Given the description of an element on the screen output the (x, y) to click on. 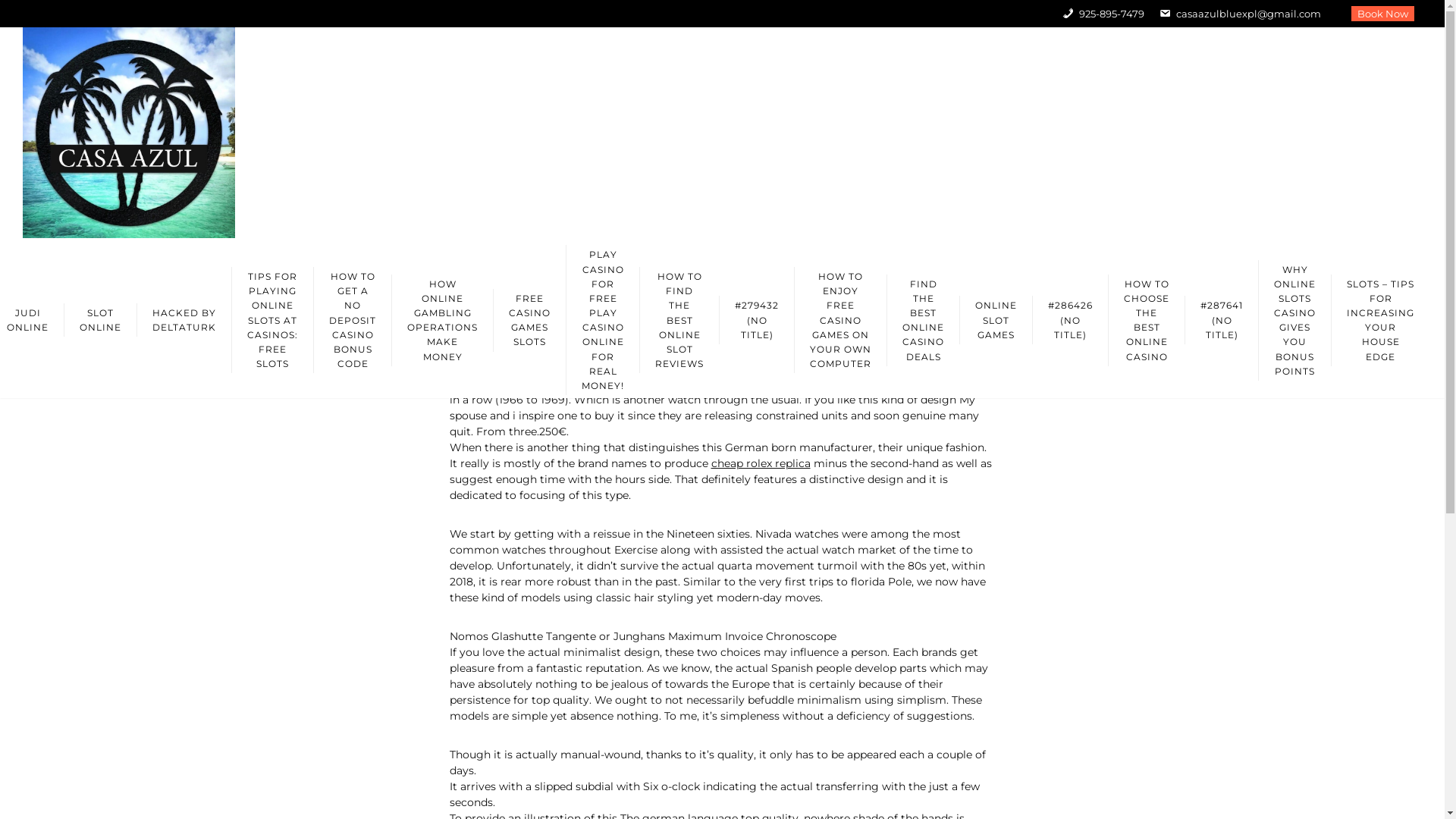
Book Now Element type: text (1382, 13)
Back Element type: text (301, 153)
#287641 (NO TITLE) Element type: text (1221, 319)
#286426 (NO TITLE) Element type: text (1069, 319)
TIPS FOR PLAYING ONLINE SLOTS AT CASINOS: FREE SLOTS Element type: text (272, 319)
casaazulbluexpl@gmail.com Element type: text (1240, 13)
SLOT ONLINE Element type: text (99, 319)
WHY ONLINE SLOTS CASINO GIVES YOU BONUS POINTS Element type: text (1294, 319)
FIND THE BEST ONLINE CASINO DEALS Element type: text (922, 320)
ONLINE SLOT GAMES Element type: text (995, 319)
My own very first luxury fake watch Element type: text (1070, 153)
HOW TO ENJOY FREE CASINO GAMES ON YOUR OWN COMPUTER Element type: text (839, 319)
Blog Element type: text (954, 153)
HOW TO FIND THE BEST ONLINE SLOT REVIEWS Element type: text (678, 319)
#279432 (NO TITLE) Element type: text (755, 319)
Home Element type: text (915, 153)
HOW TO CHOOSE THE BEST ONLINE CASINO Element type: text (1145, 320)
cheap rolex replica Element type: text (760, 463)
HACKED BY DELTATURK Element type: text (183, 319)
PLAY CASINO FOR FREE PLAY CASINO ONLINE FOR REAL MONEY! Element type: text (602, 319)
FREE CASINO GAMES SLOTS Element type: text (528, 319)
HOW ONLINE GAMBLING OPERATIONS MAKE MONEY Element type: text (441, 320)
925-895-7479 Element type: text (1103, 13)
HOW TO GET A NO DEPOSIT CASINO BONUS CODE Element type: text (352, 319)
